Given the description of an element on the screen output the (x, y) to click on. 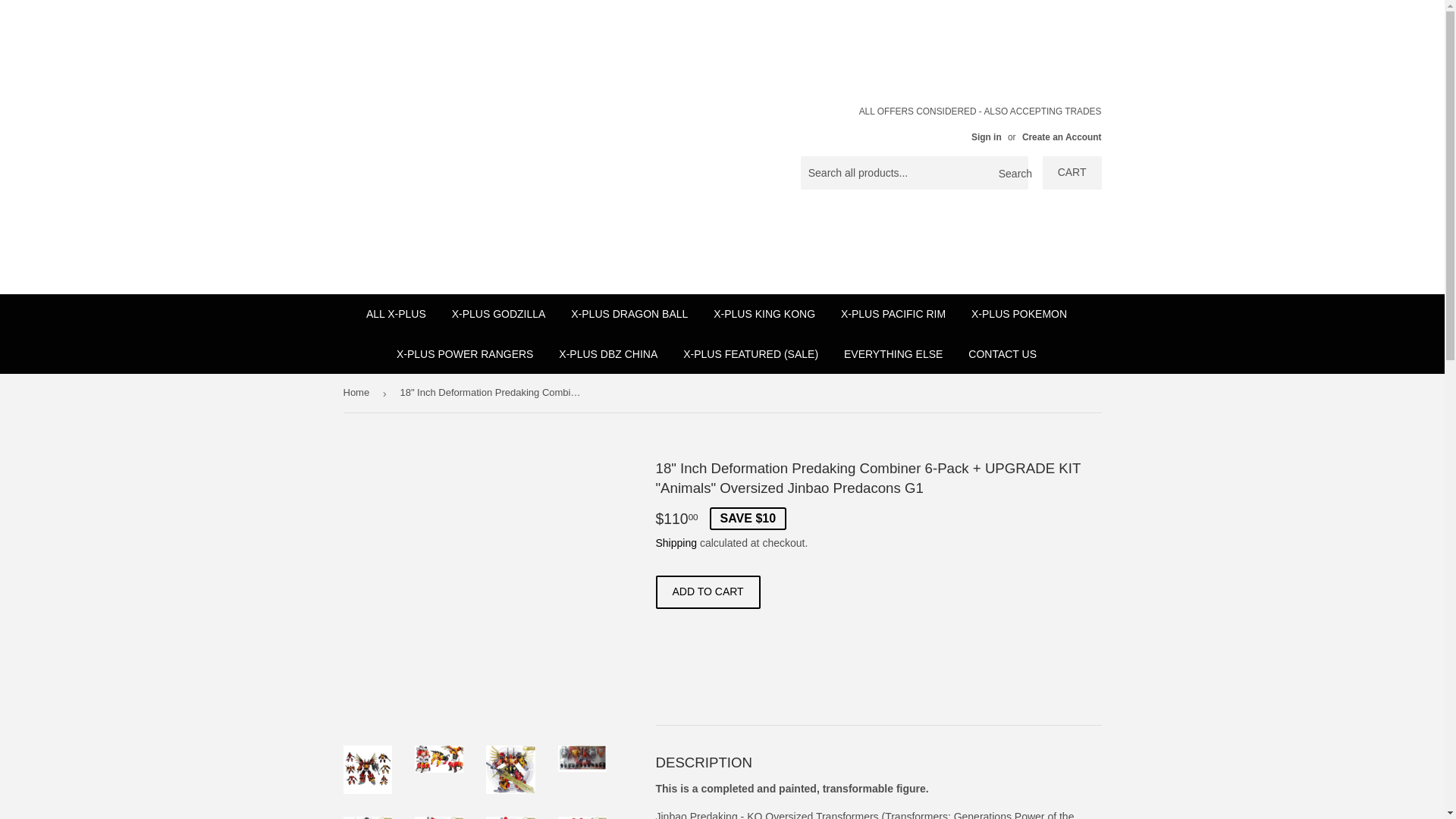
CART (1072, 172)
Create an Account (1062, 136)
Sign in (986, 136)
Search (1010, 173)
